Given the description of an element on the screen output the (x, y) to click on. 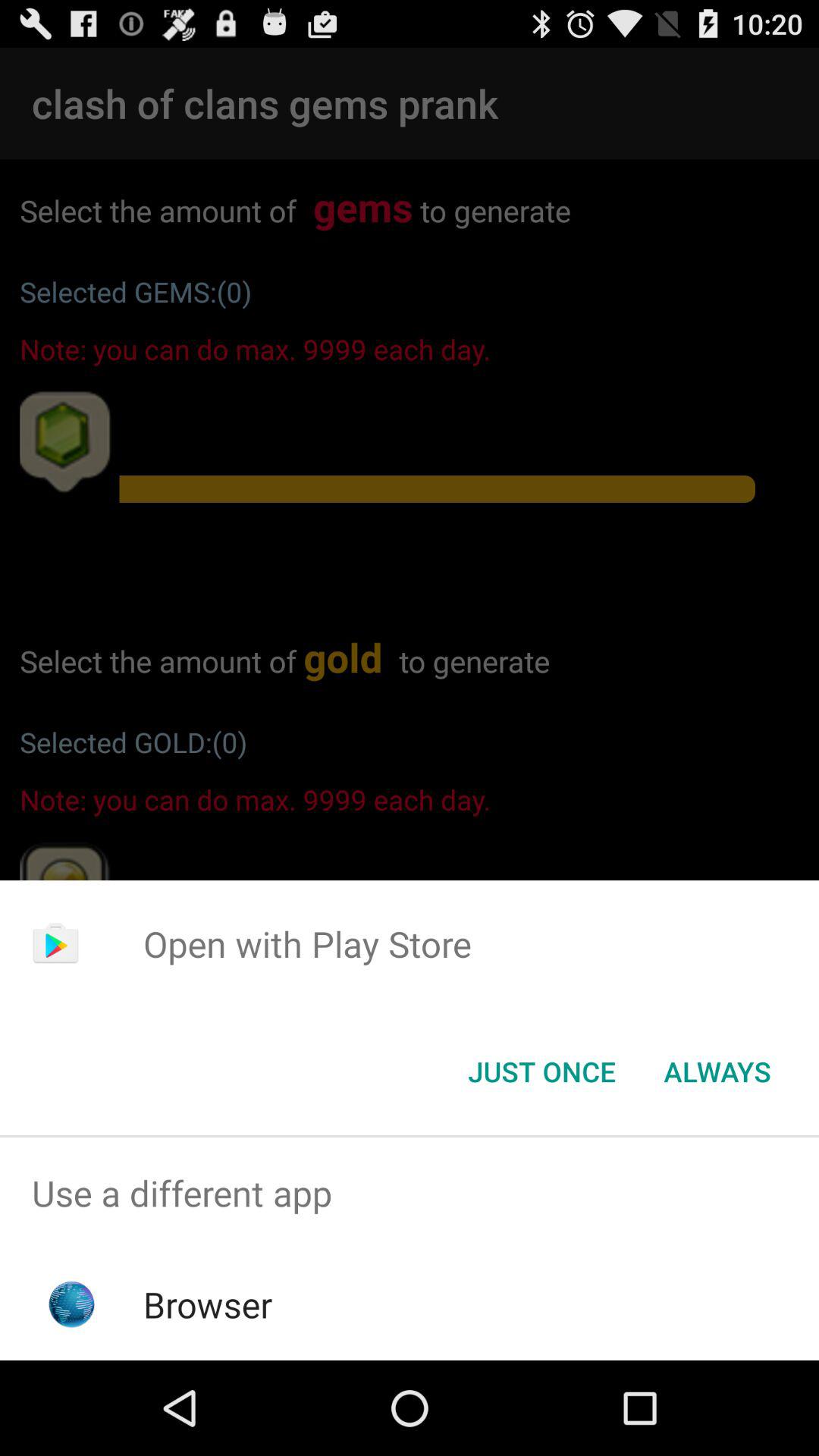
press the browser icon (207, 1304)
